Given the description of an element on the screen output the (x, y) to click on. 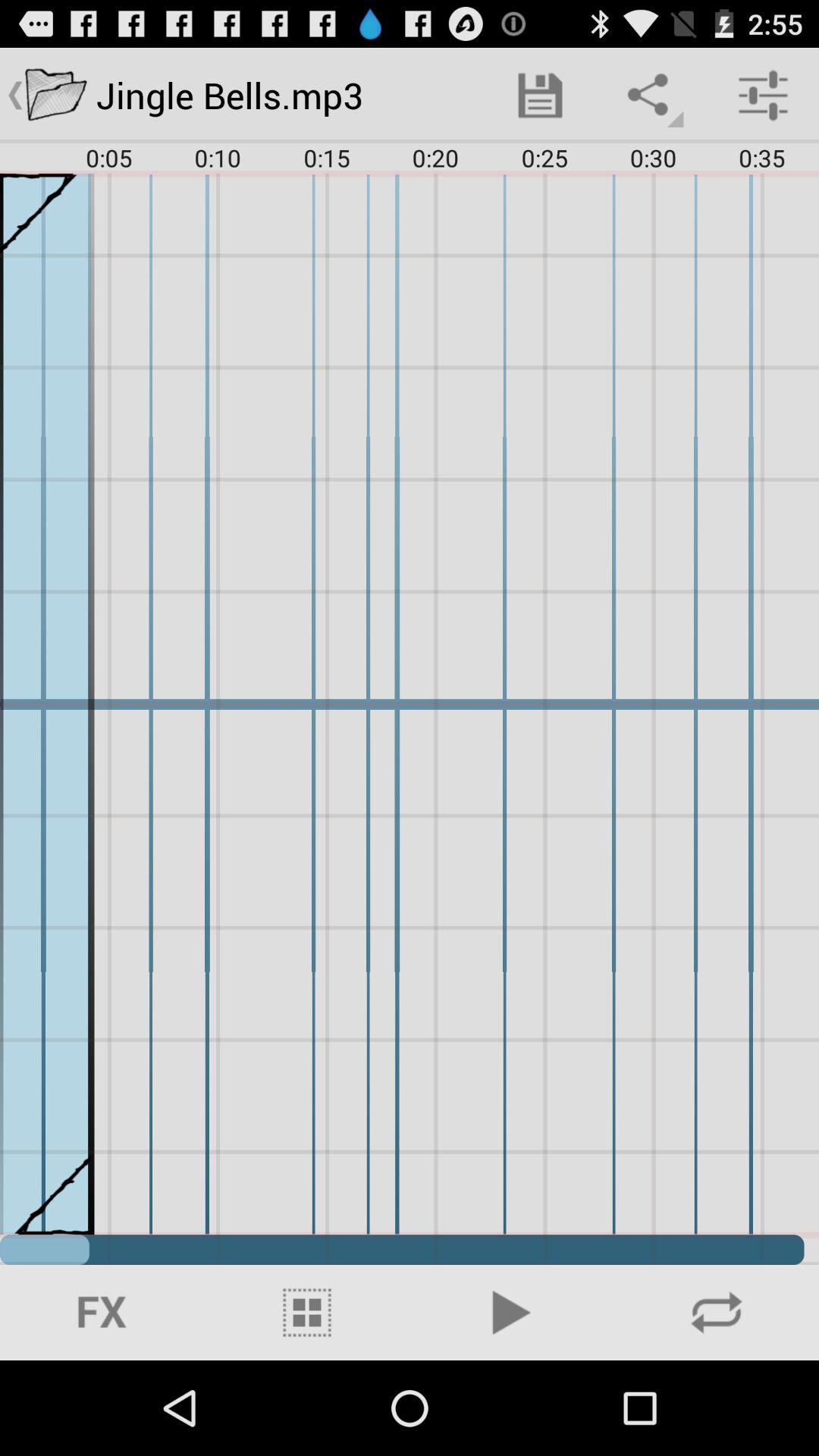
select the option behind the share icon (540, 95)
